Given the description of an element on the screen output the (x, y) to click on. 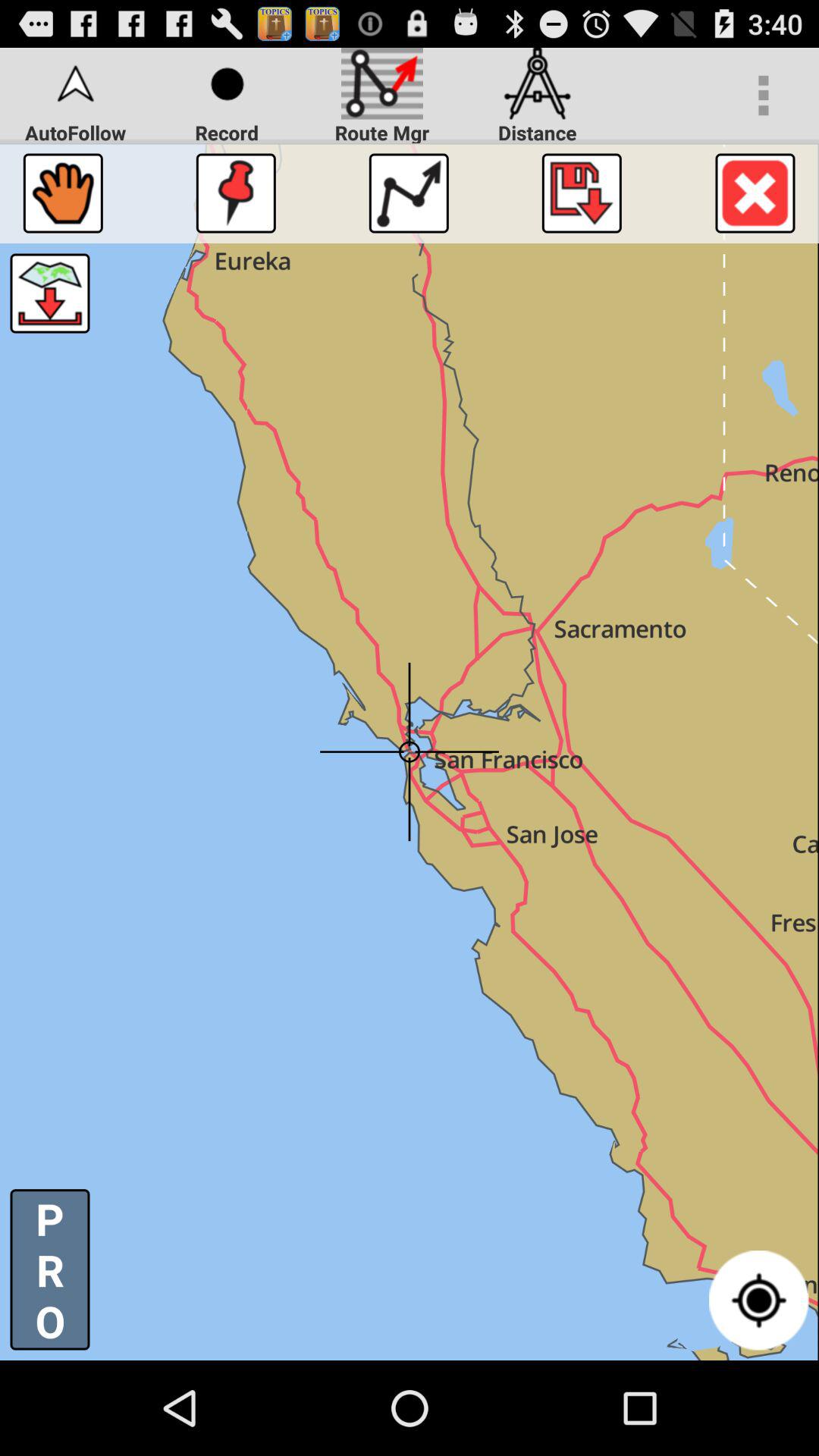
choose the app below autofollow (62, 193)
